Given the description of an element on the screen output the (x, y) to click on. 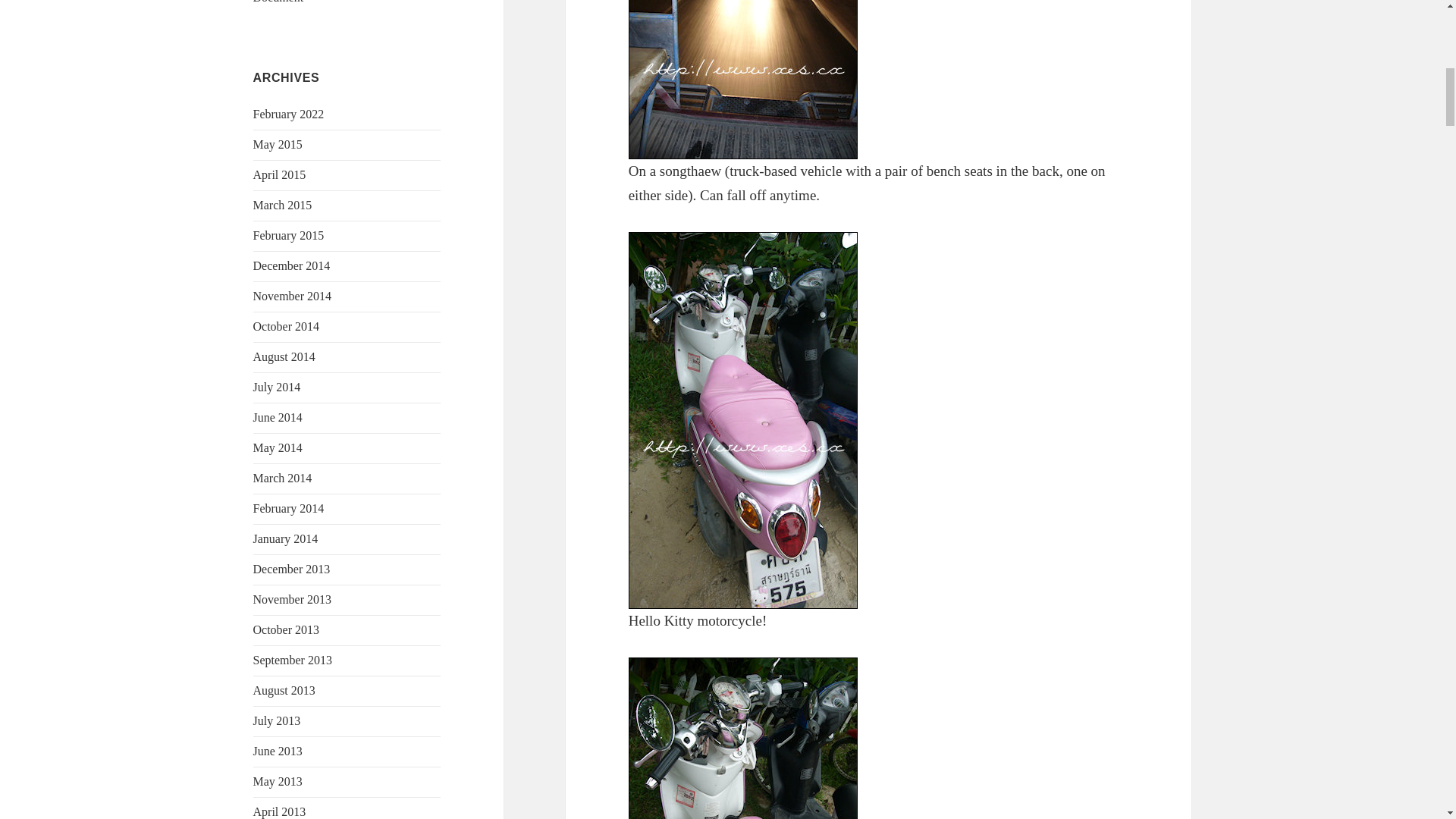
February 2015 (288, 235)
December 2014 (291, 265)
June 2013 (277, 750)
October 2013 (286, 629)
February 2022 (288, 113)
April 2015 (279, 174)
May 2015 (277, 144)
August 2014 (284, 356)
July 2014 (277, 386)
March 2015 (283, 205)
Borneo Court Document (322, 2)
August 2013 (284, 689)
September 2013 (292, 659)
June 2014 (277, 417)
May 2014 (277, 447)
